Given the description of an element on the screen output the (x, y) to click on. 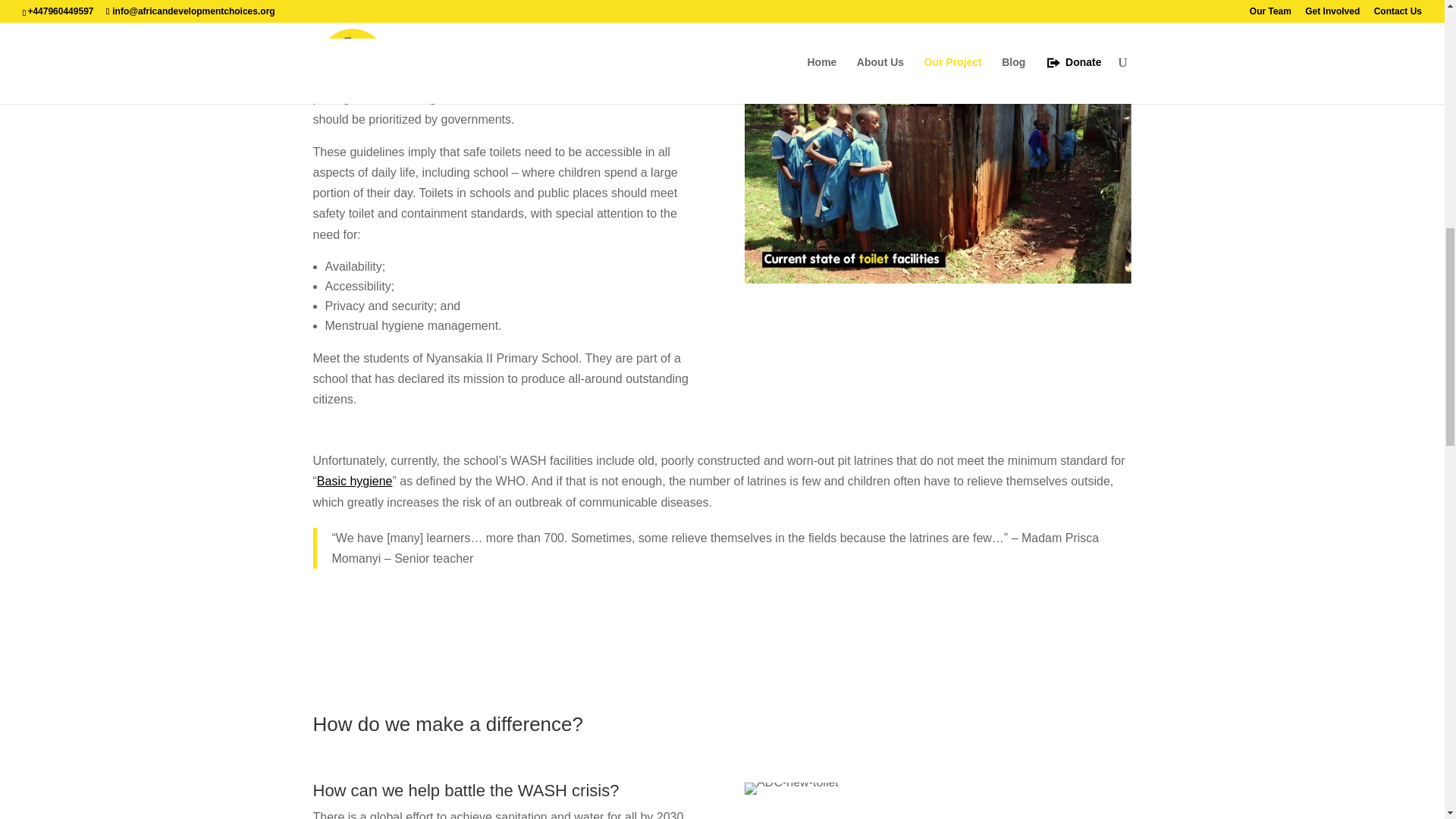
WHO (418, 56)
Basic hygiene (355, 481)
ADC-new-toilet-6-768x432 (791, 788)
